Given the description of an element on the screen output the (x, y) to click on. 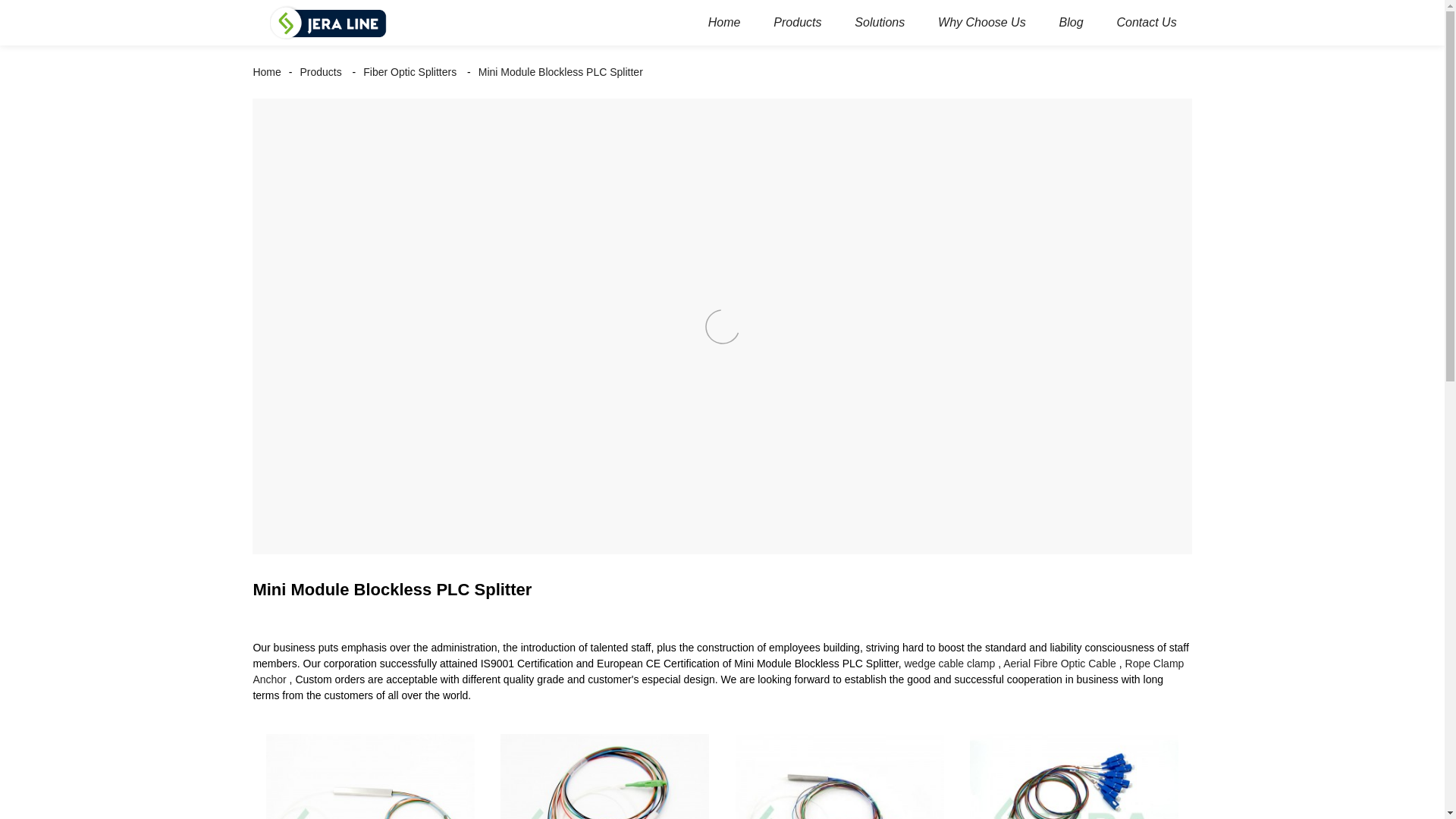
Fiber Optic Splitters (409, 71)
Products (796, 22)
Products (320, 71)
Rope Clamp Anchor (717, 671)
Home (724, 22)
Aerial Fibre Optic Cable (1059, 663)
wedge cable clamp (949, 663)
